Given the description of an element on the screen output the (x, y) to click on. 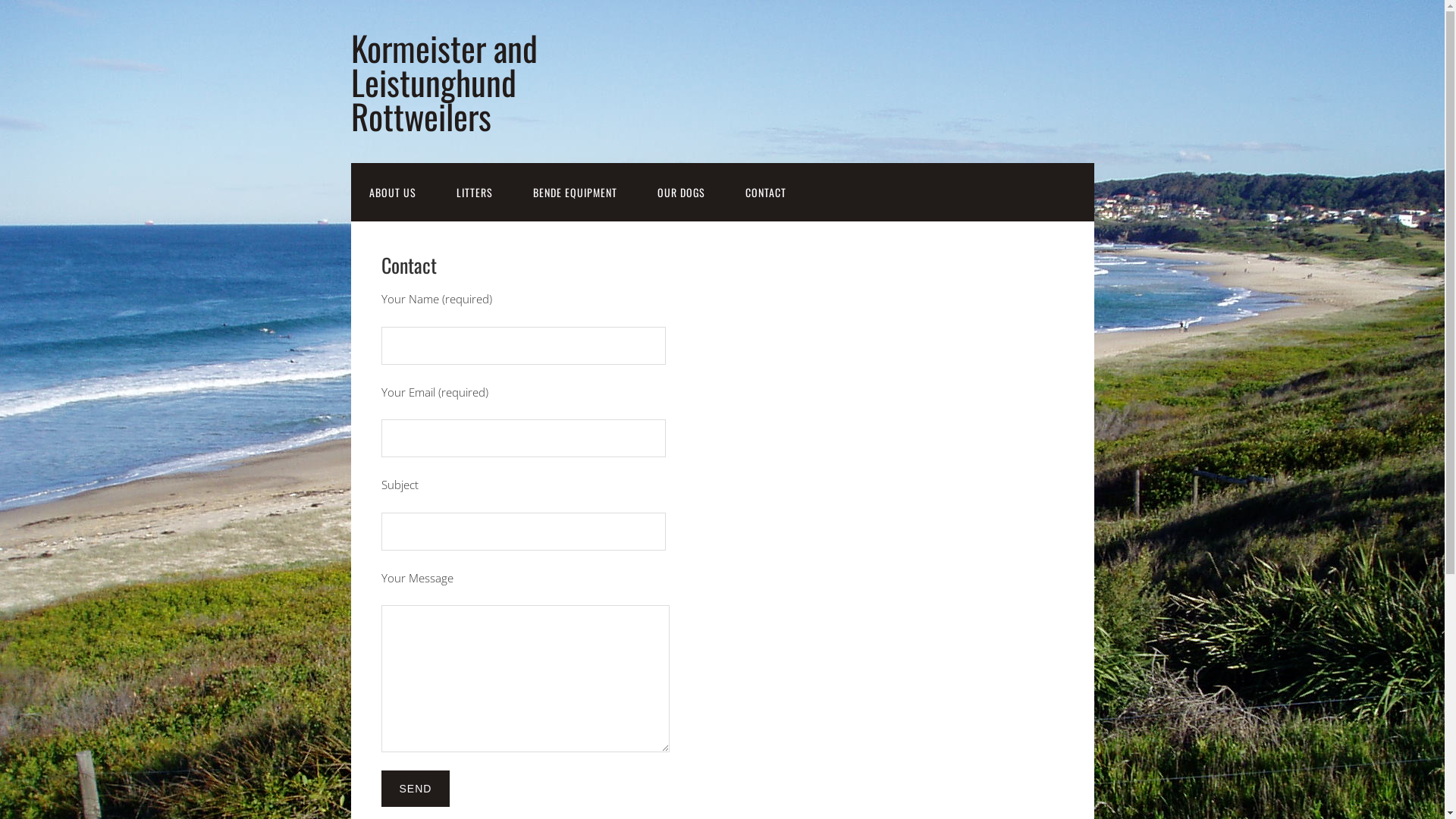
CONTACT Element type: text (764, 192)
ABOUT US Element type: text (391, 192)
Send Element type: text (414, 788)
Kormeister and Leistunghund Rottweilers Element type: text (443, 81)
LITTERS Element type: text (474, 192)
OUR DOGS Element type: text (680, 192)
BENDE EQUIPMENT Element type: text (574, 192)
